Given the description of an element on the screen output the (x, y) to click on. 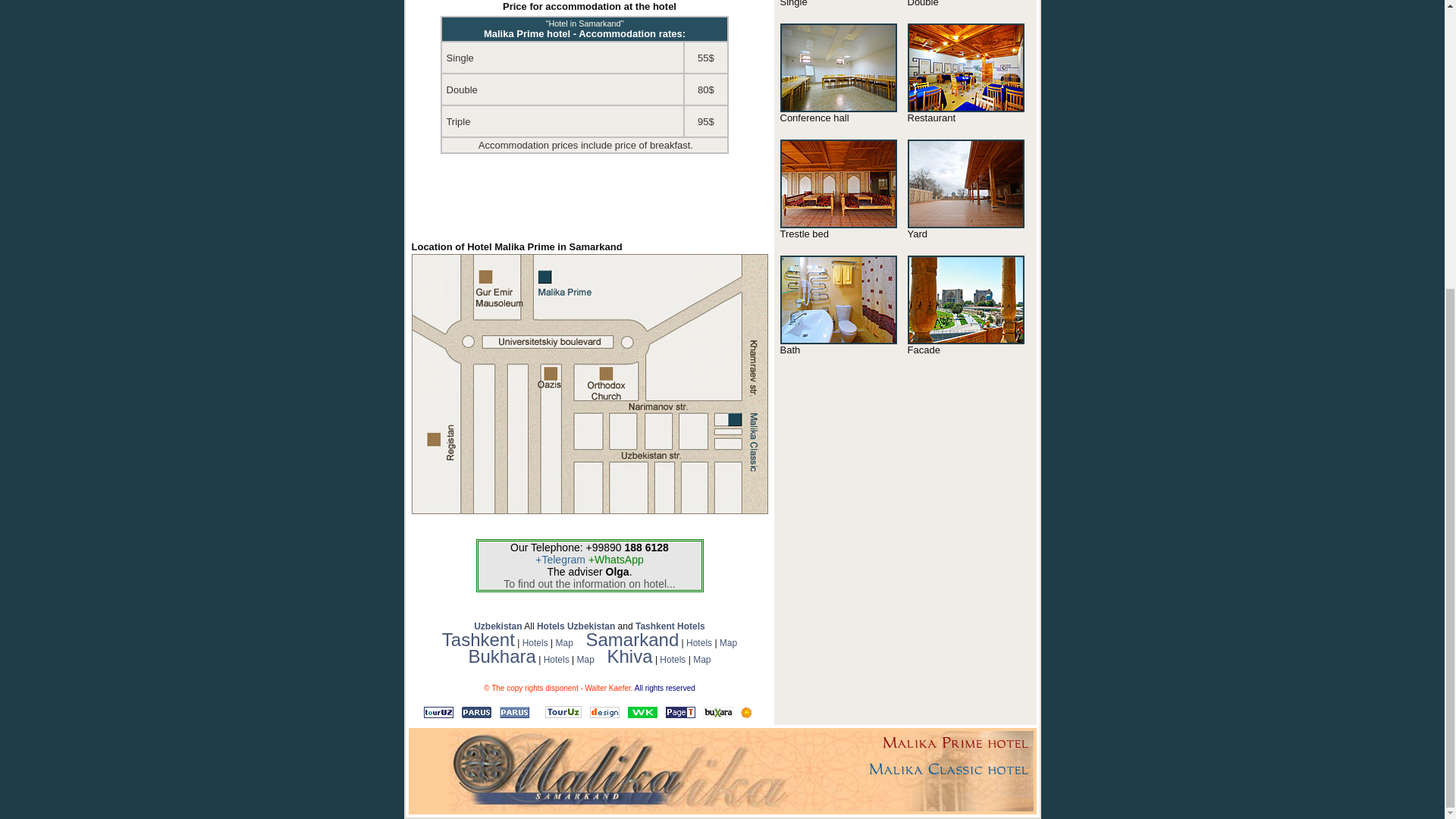
Tashkent Hotels (669, 625)
Samarkand (631, 639)
Map (701, 659)
Uzbekistan (497, 625)
Hotels (698, 643)
Asia travel tours (718, 714)
Hotels (535, 643)
Hotels (556, 659)
Tashkent (478, 639)
Map (727, 643)
Hotels (672, 659)
Malika Prime Hotel in Samarkand (965, 340)
Khiva (629, 656)
Hotels Uzbekistan (575, 625)
